Given the description of an element on the screen output the (x, y) to click on. 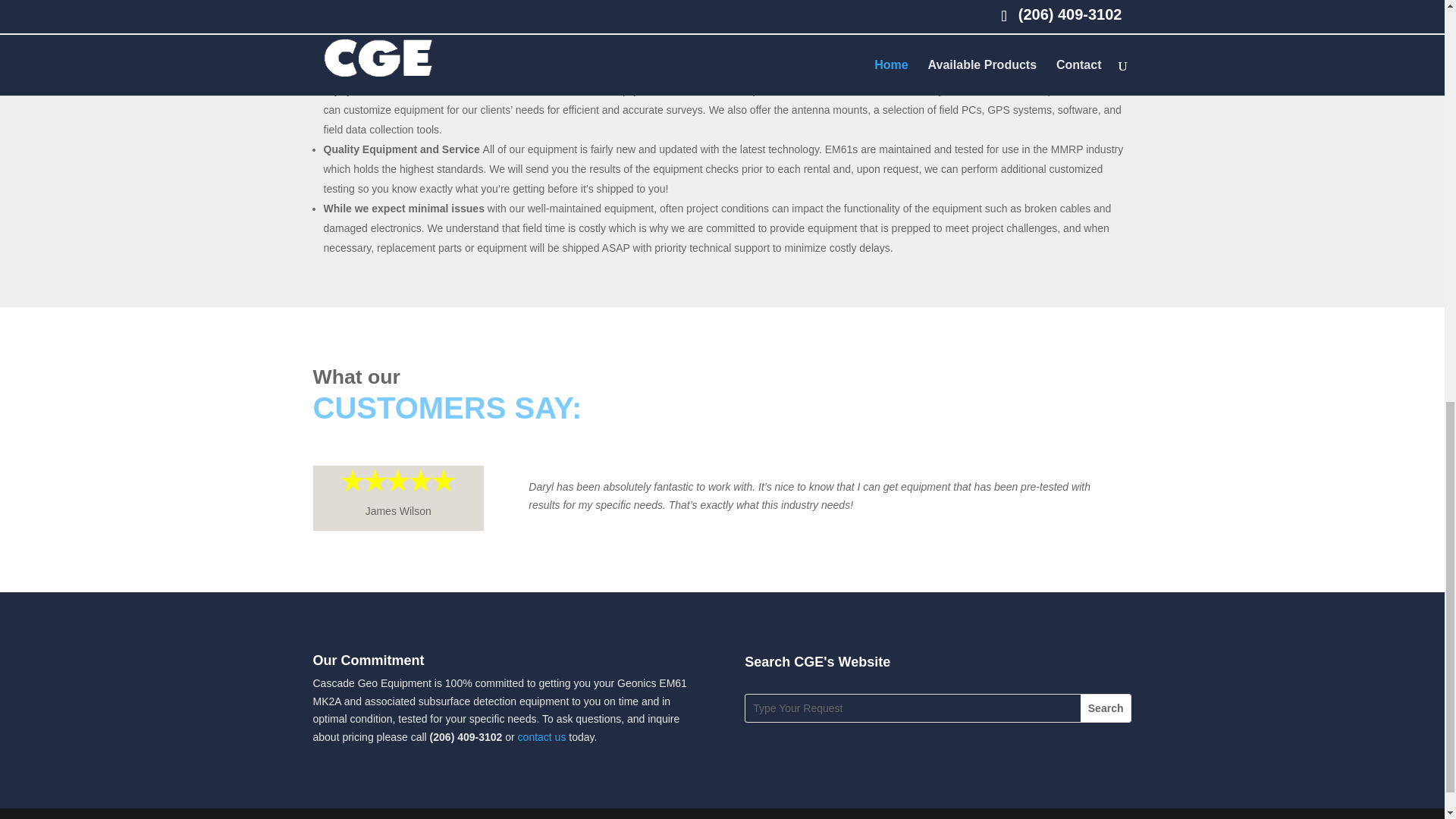
Search (1105, 707)
contact us (542, 736)
5 (397, 480)
Search (1105, 707)
Search (1105, 707)
